Given the description of an element on the screen output the (x, y) to click on. 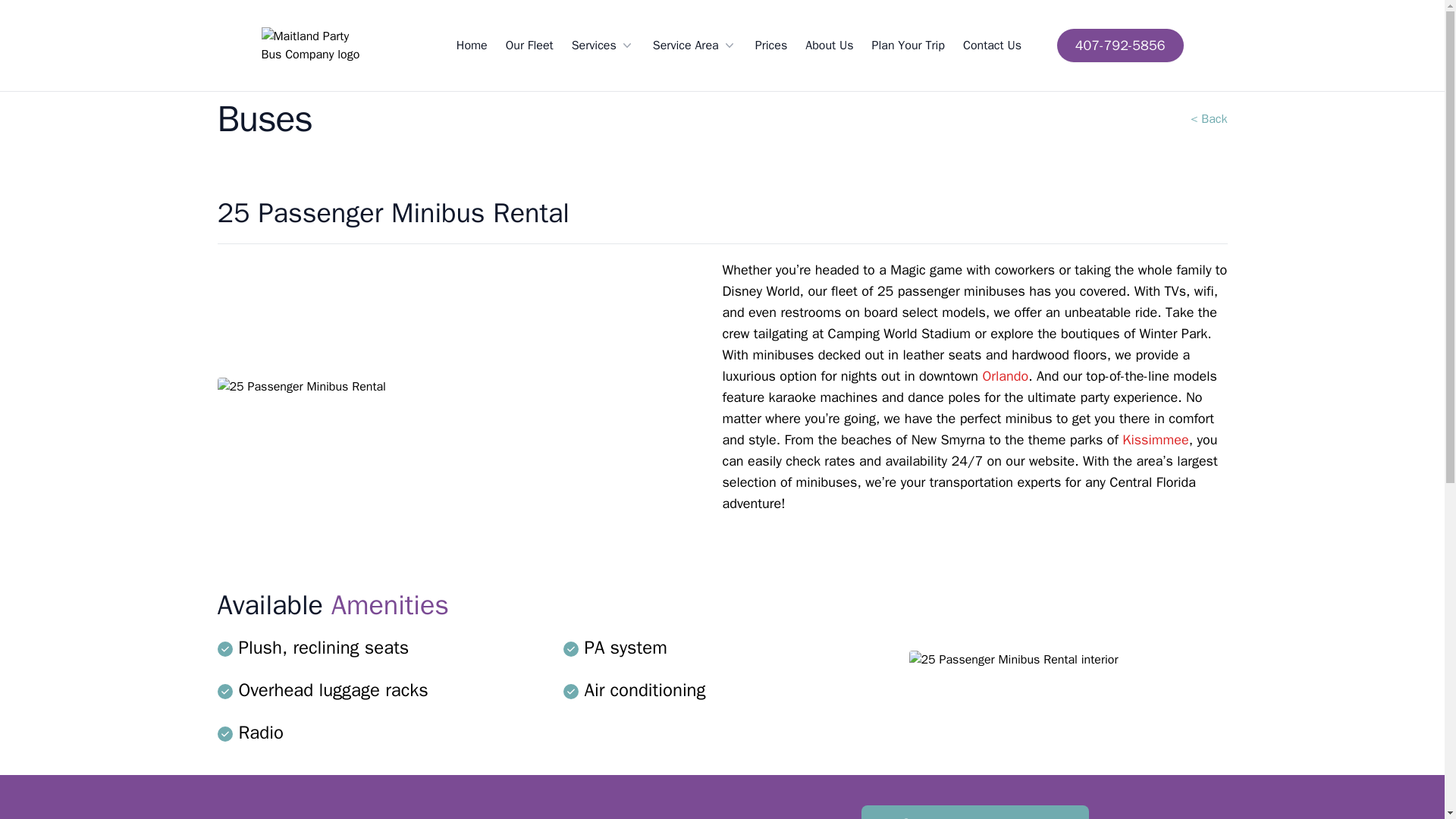
Services (603, 45)
Maitland Party Bus Company (312, 44)
Home (472, 45)
Prices (771, 45)
Our Fleet (529, 45)
About Us (829, 45)
Service Area (694, 45)
